Given the description of an element on the screen output the (x, y) to click on. 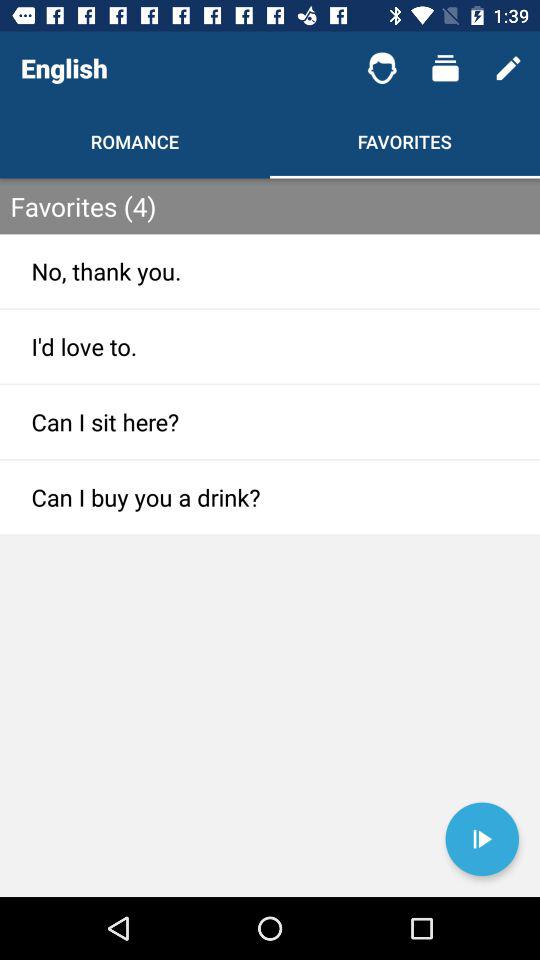
select favorites  shown next to romance (405, 141)
click on the second symbol form the top right corner of the page (445, 68)
